Given the description of an element on the screen output the (x, y) to click on. 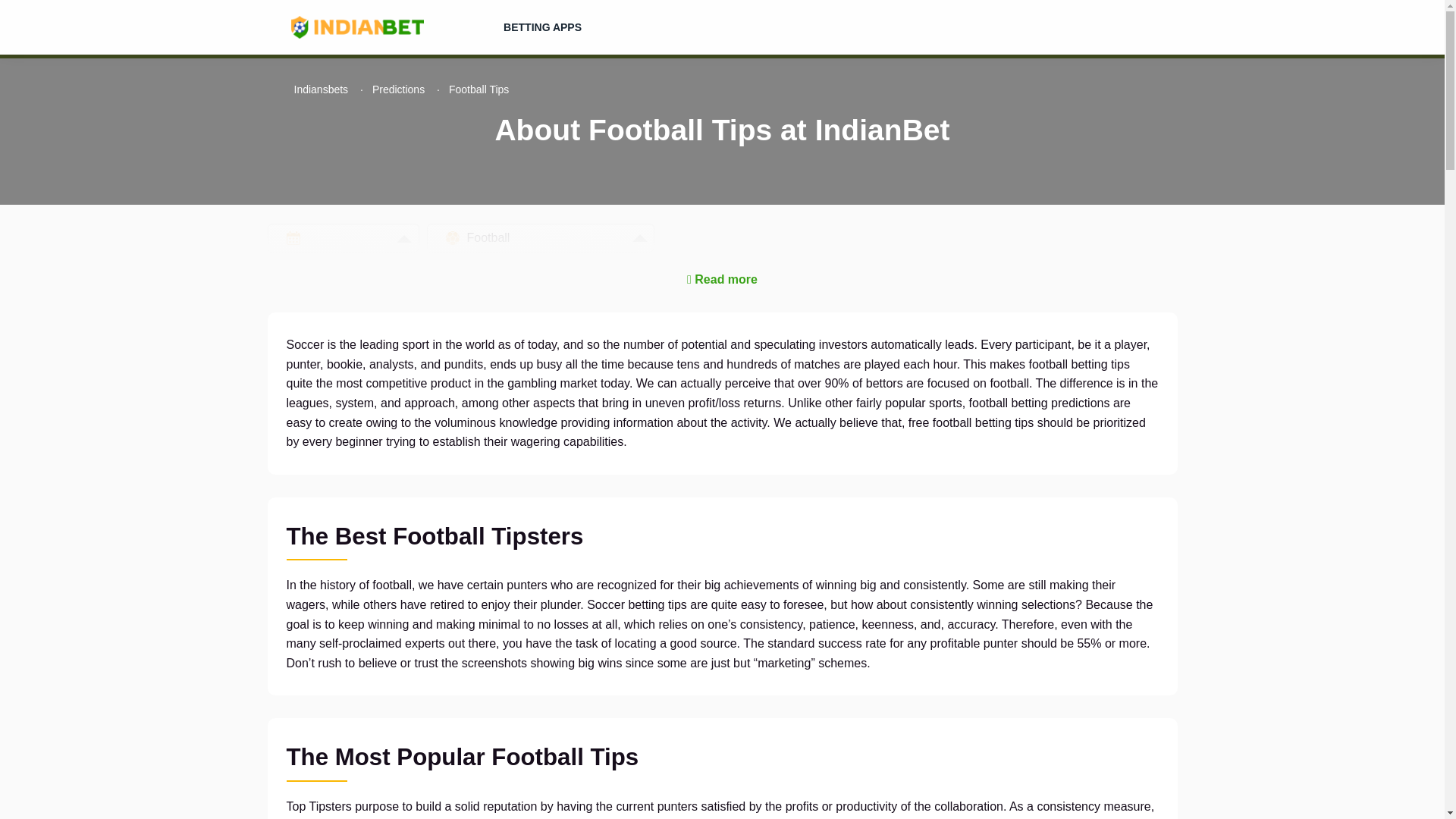
BETTING APPS (542, 27)
Predictions (398, 89)
Indiansbets (321, 89)
